Given the description of an element on the screen output the (x, y) to click on. 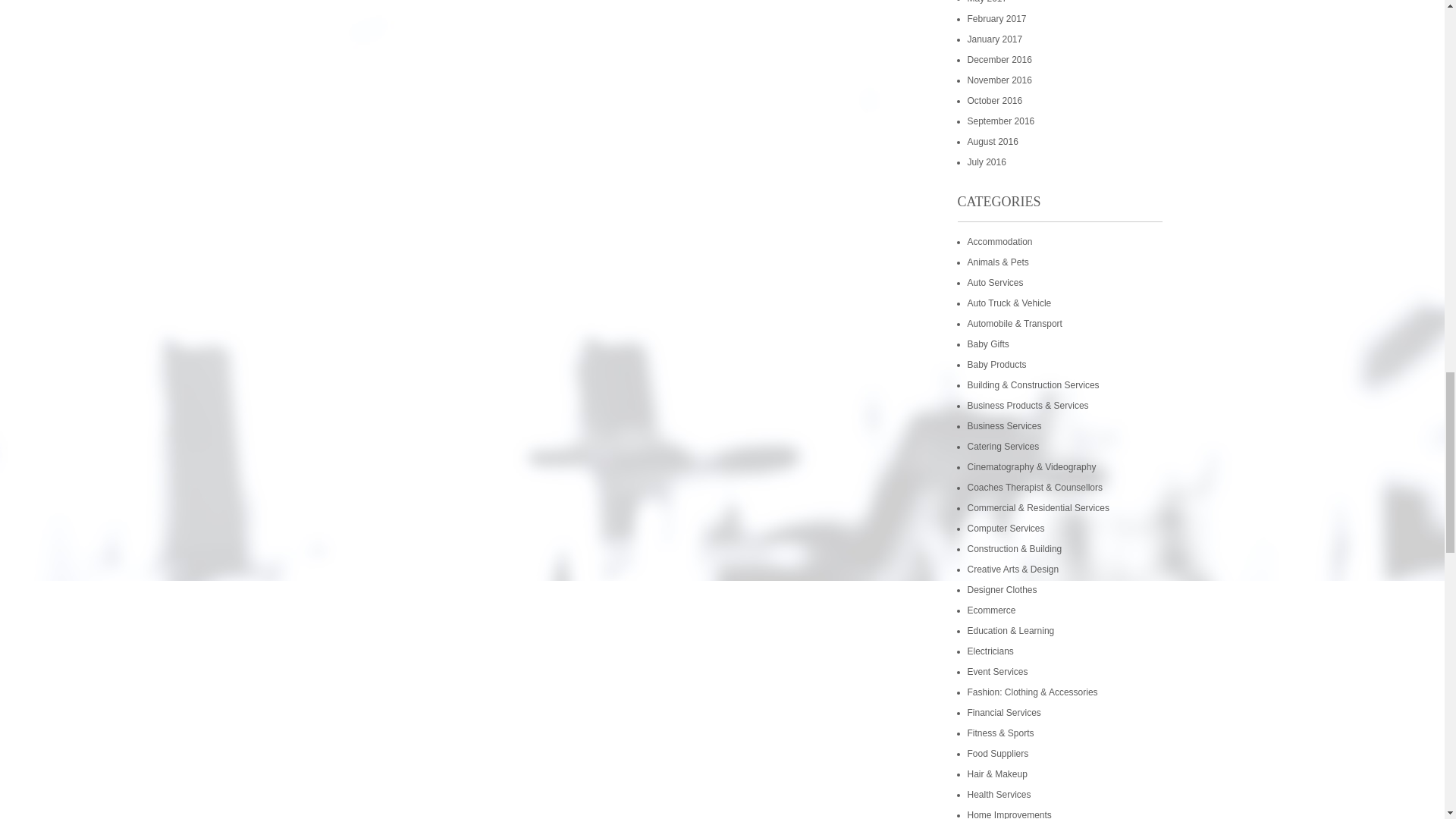
Baby Gifts (988, 344)
Accommodation (1000, 241)
